Given the description of an element on the screen output the (x, y) to click on. 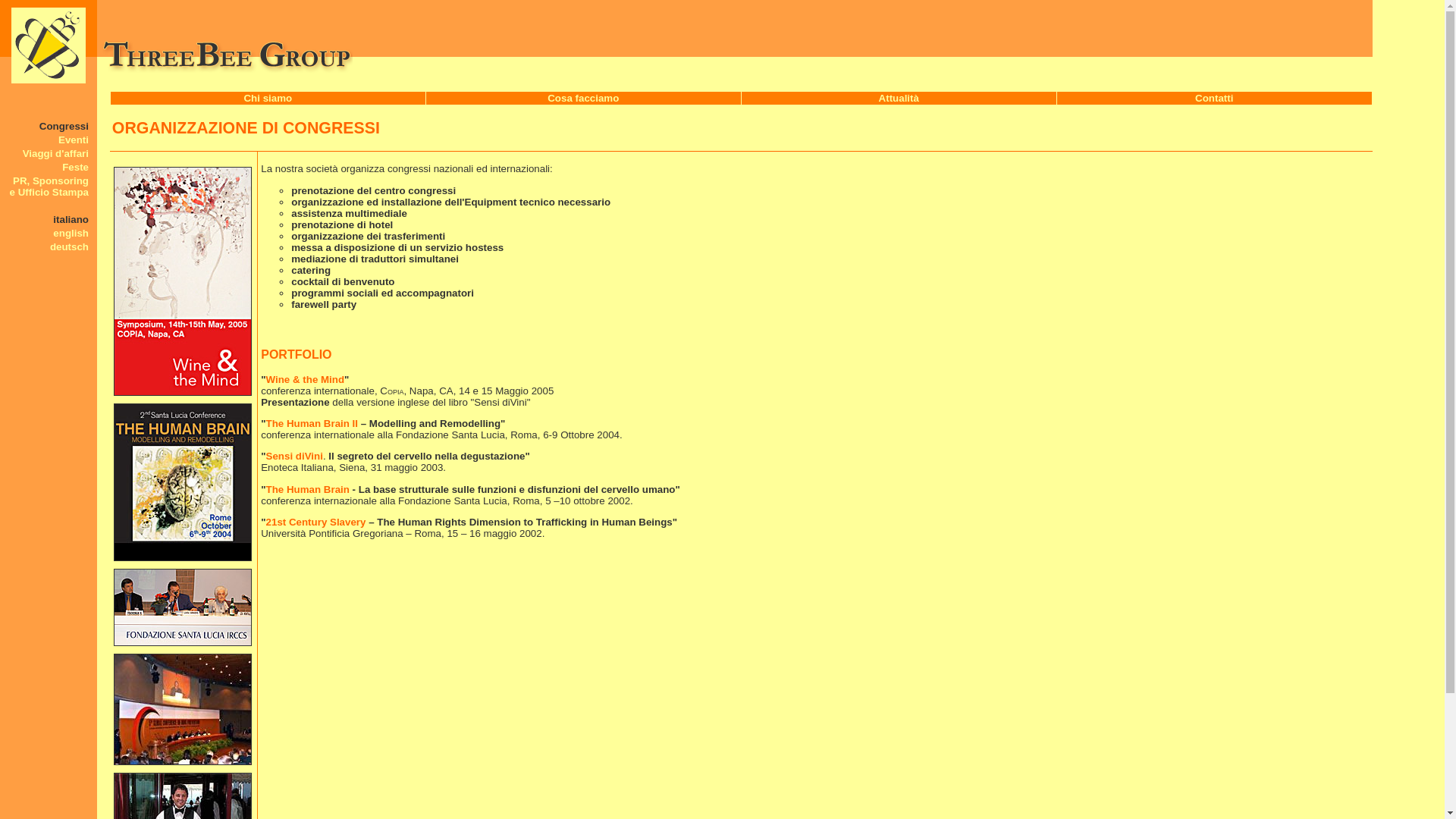
Cosa facciamo Element type: text (582, 97)
deutsch Element type: text (69, 246)
Chi siamo Element type: text (267, 97)
Wine & the Mind Element type: text (305, 379)
Contatti Element type: text (1214, 97)
The Human Brain Element type: text (309, 489)
Eventi Element type: text (73, 139)
Sensi diVini Element type: text (294, 455)
Viaggi d'affari Element type: text (55, 153)
PR, Sponsoring
e Ufficio Stampa Element type: text (48, 186)
english Element type: text (70, 232)
21st Century Slavery Element type: text (317, 521)
The Human Brain II Element type: text (311, 423)
Feste Element type: text (75, 166)
